Given the description of an element on the screen output the (x, y) to click on. 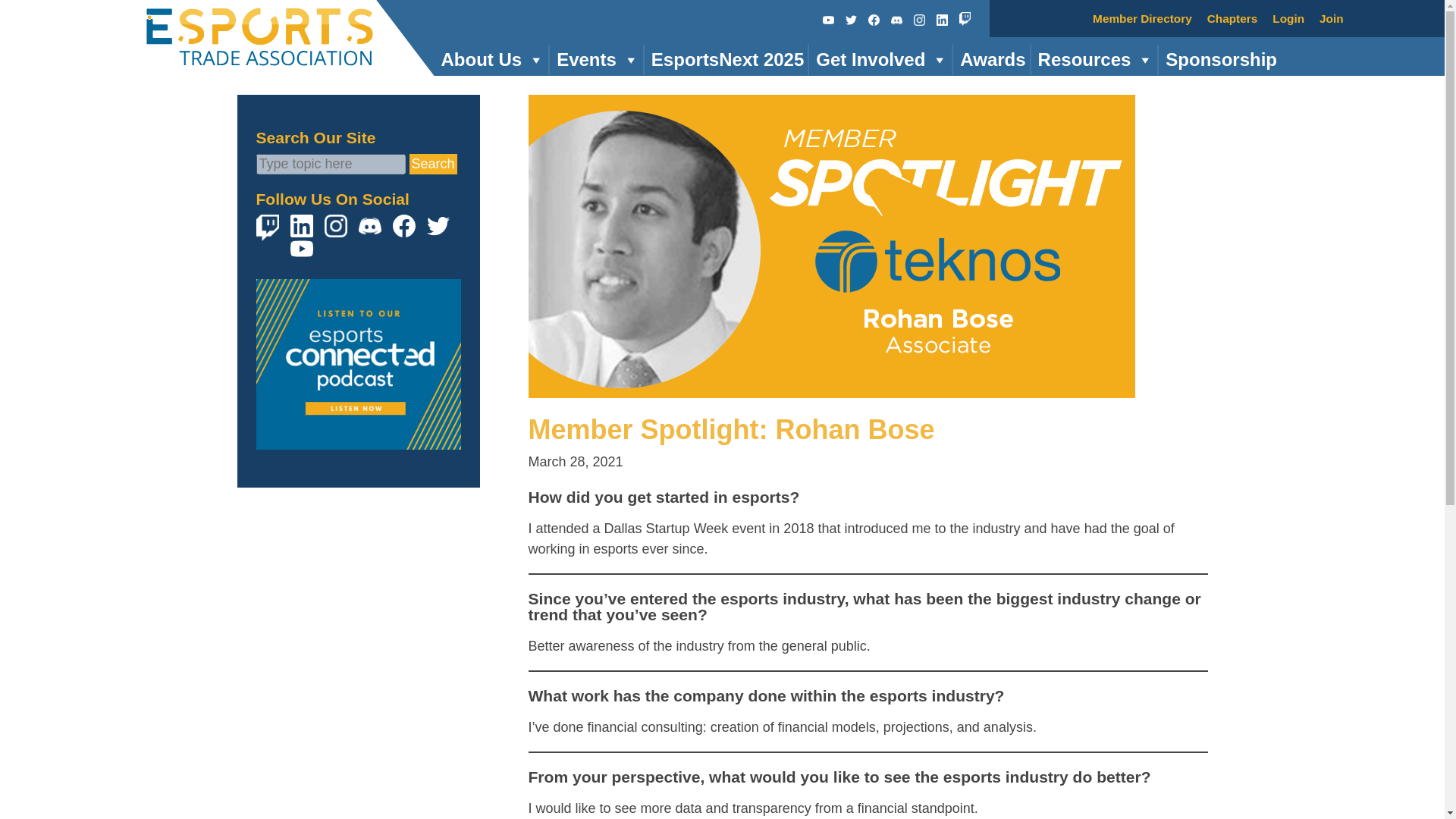
Resources (1093, 60)
Awards (990, 60)
Get Involved (880, 60)
EsportsNext 2025 (725, 60)
Member Directory (1142, 18)
Member Spotlight: Rohan Bose (730, 429)
Login (1288, 18)
Join (1331, 18)
Events (595, 60)
Chapters (1232, 18)
Member Spotlight: Rohan Bose (830, 386)
About Us (490, 60)
